Given the description of an element on the screen output the (x, y) to click on. 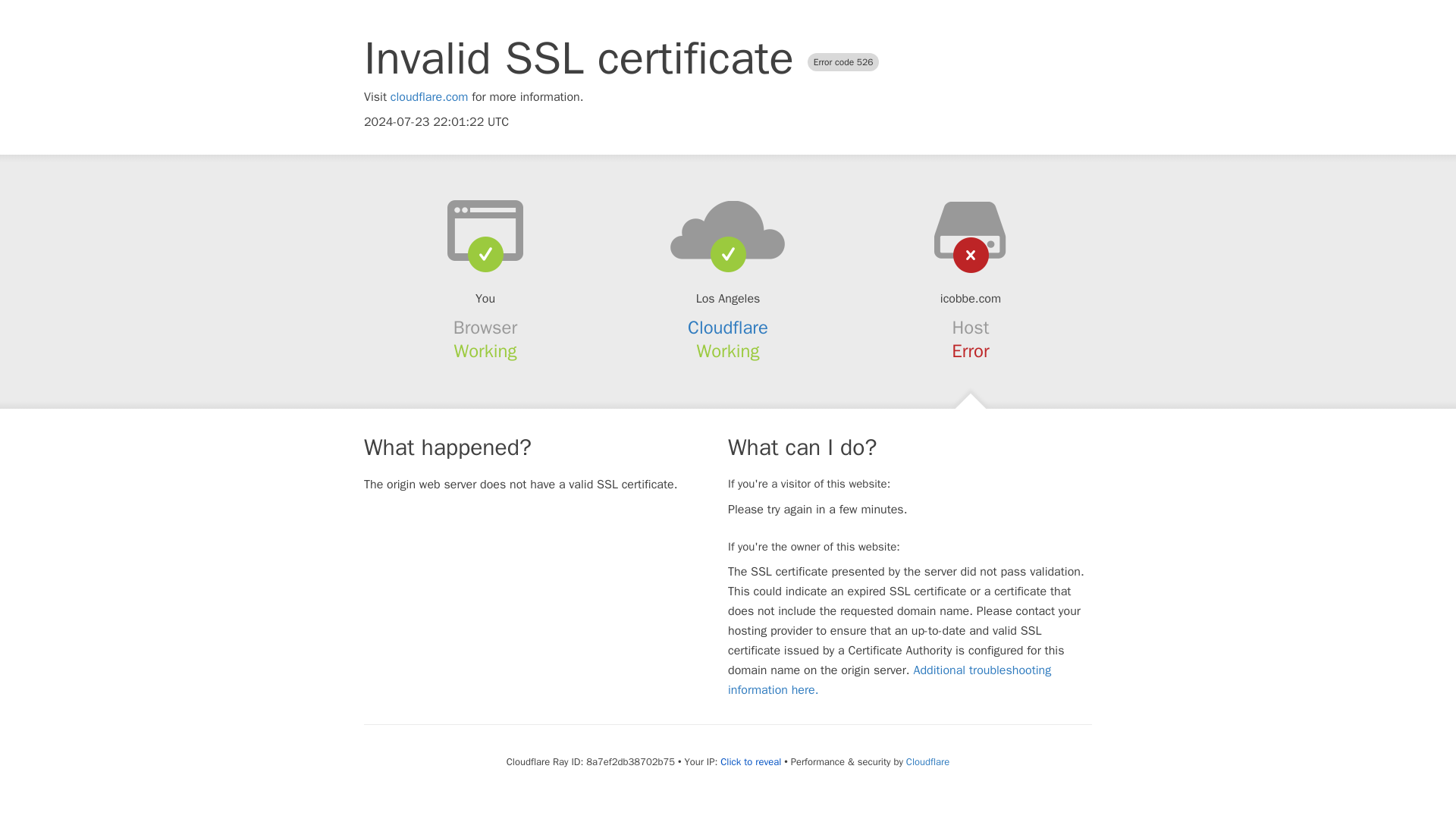
Click to reveal (750, 762)
cloudflare.com (429, 96)
Cloudflare (727, 327)
Additional troubleshooting information here. (889, 679)
Cloudflare (927, 761)
